Given the description of an element on the screen output the (x, y) to click on. 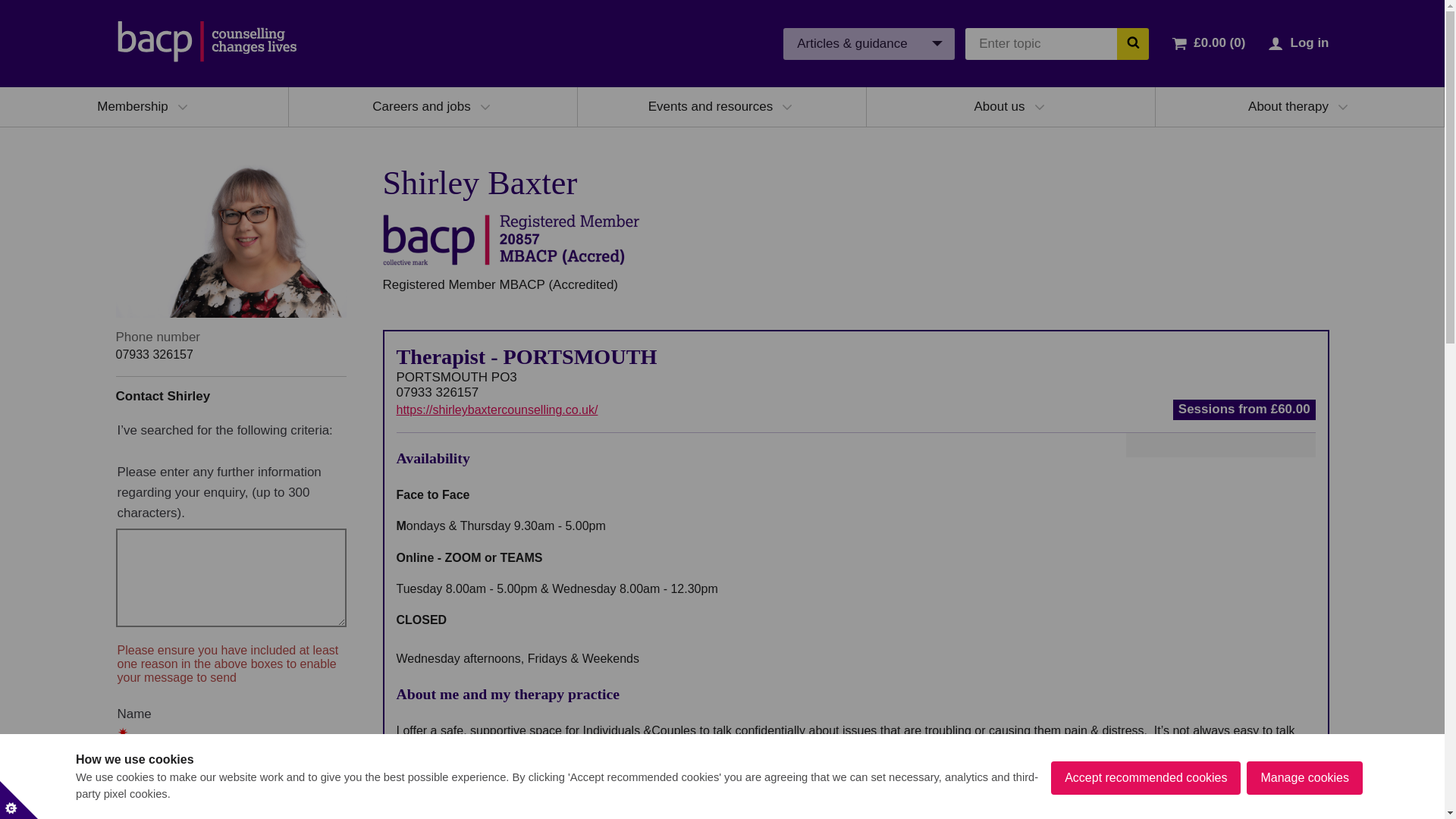
Log in (1309, 42)
Membership (132, 106)
Manage cookies (1304, 811)
Search the BACP website (1132, 42)
Events and resources (710, 106)
Careers and jobs (421, 106)
